Given the description of an element on the screen output the (x, y) to click on. 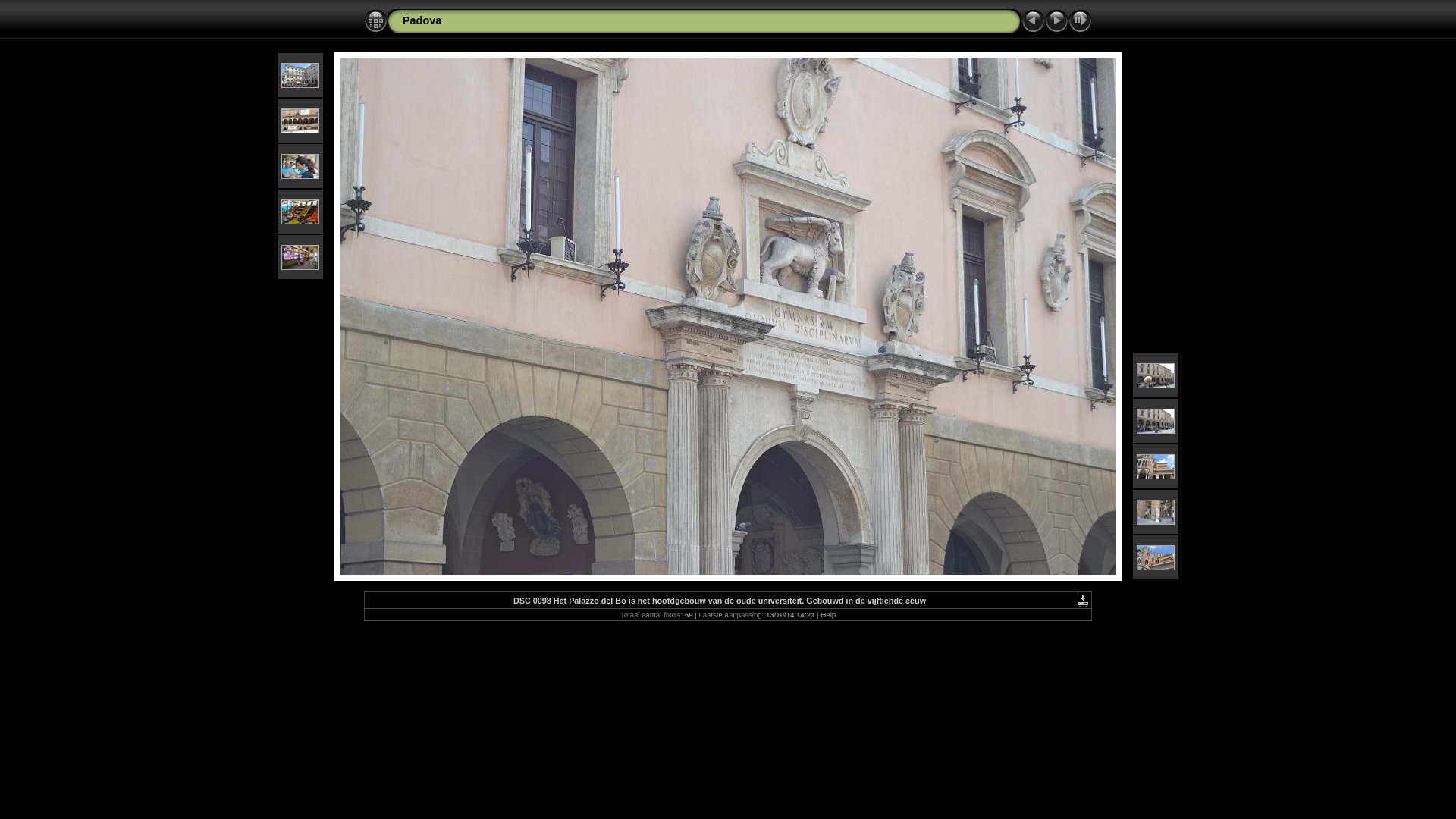
 DSC_0092_Rosanne, in het Frans maar...  Element type: hover (300, 165)
 DSC_0099_De universiteit van Padua...  Element type: hover (1155, 374)
 DSC_0091_De arcade van de begane...  Element type: hover (300, 119)
 DSC_0093_Onder de arcade  zijn...  Element type: hover (300, 210)
Help Element type: text (827, 614)
 DSC_0101_Pedrocchi Cafe.  De...  Element type: hover (1155, 465)
 DSC_0103_Pedrocchi Cafe.  De...  Element type: hover (1155, 556)
Padova Element type: text (421, 20)
 DSC_0102_Levend standbeeld  Element type: hover (1155, 511)
 Vorige foto  Element type: hover (1032, 20)
 Index pagina  Element type: hover (375, 20)
 DSC_0090_Palazzo Moroni. Majestueus...  Element type: hover (300, 74)
 Volgende foto  Element type: hover (1056, 20)
 Foto downloaden  Element type: hover (1082, 599)
 DSC_0100_Galileo Galilei ontdekte in...  Element type: hover (1155, 420)
 DSC_0094_Hier een slagerij  Element type: hover (300, 256)
